Given the description of an element on the screen output the (x, y) to click on. 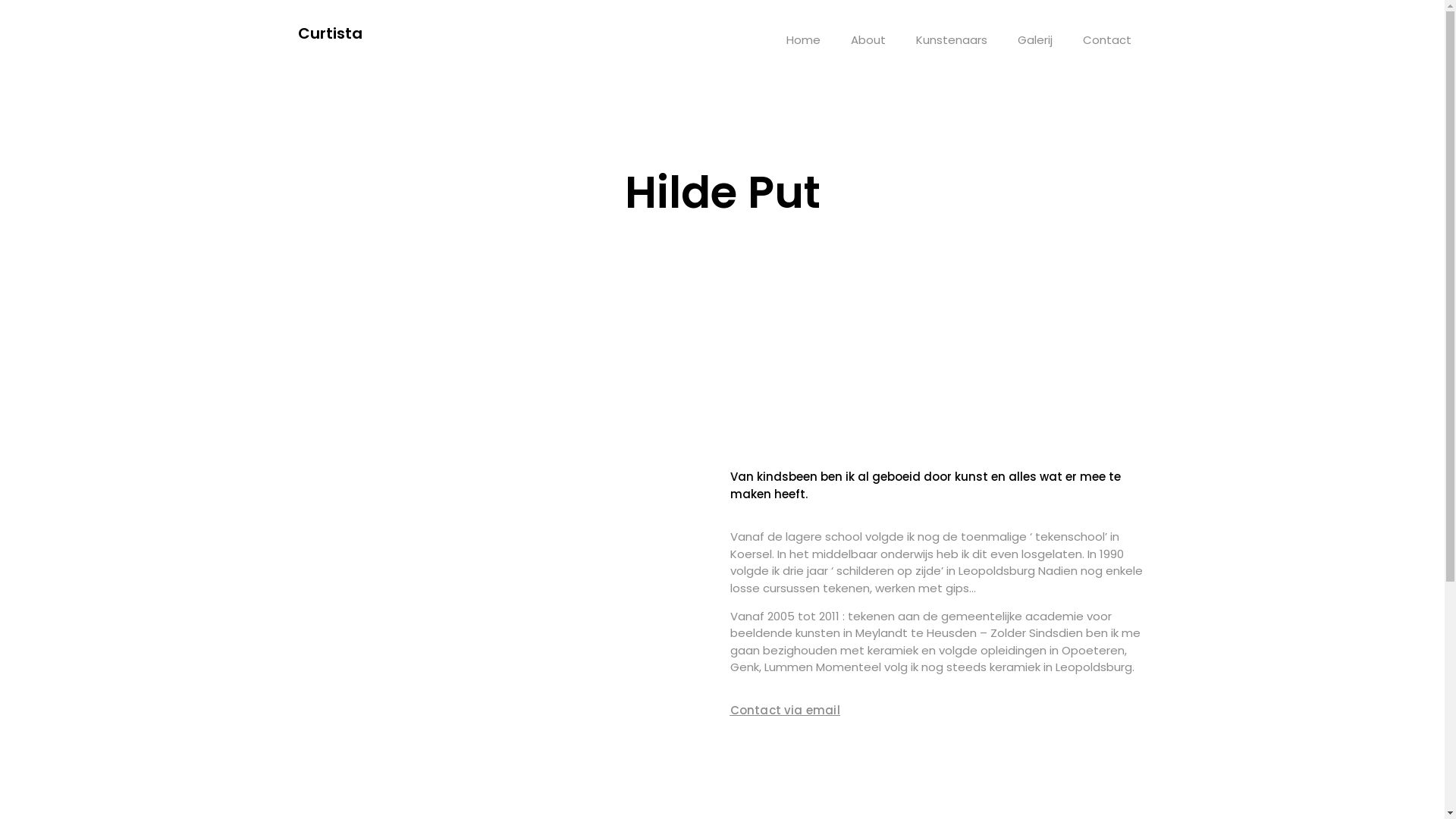
Galerij Element type: text (1034, 39)
Contact Element type: text (1106, 39)
About Element type: text (867, 39)
Contact via email Element type: text (784, 709)
Home Element type: text (803, 39)
Kunstenaars Element type: text (951, 39)
